Given the description of an element on the screen output the (x, y) to click on. 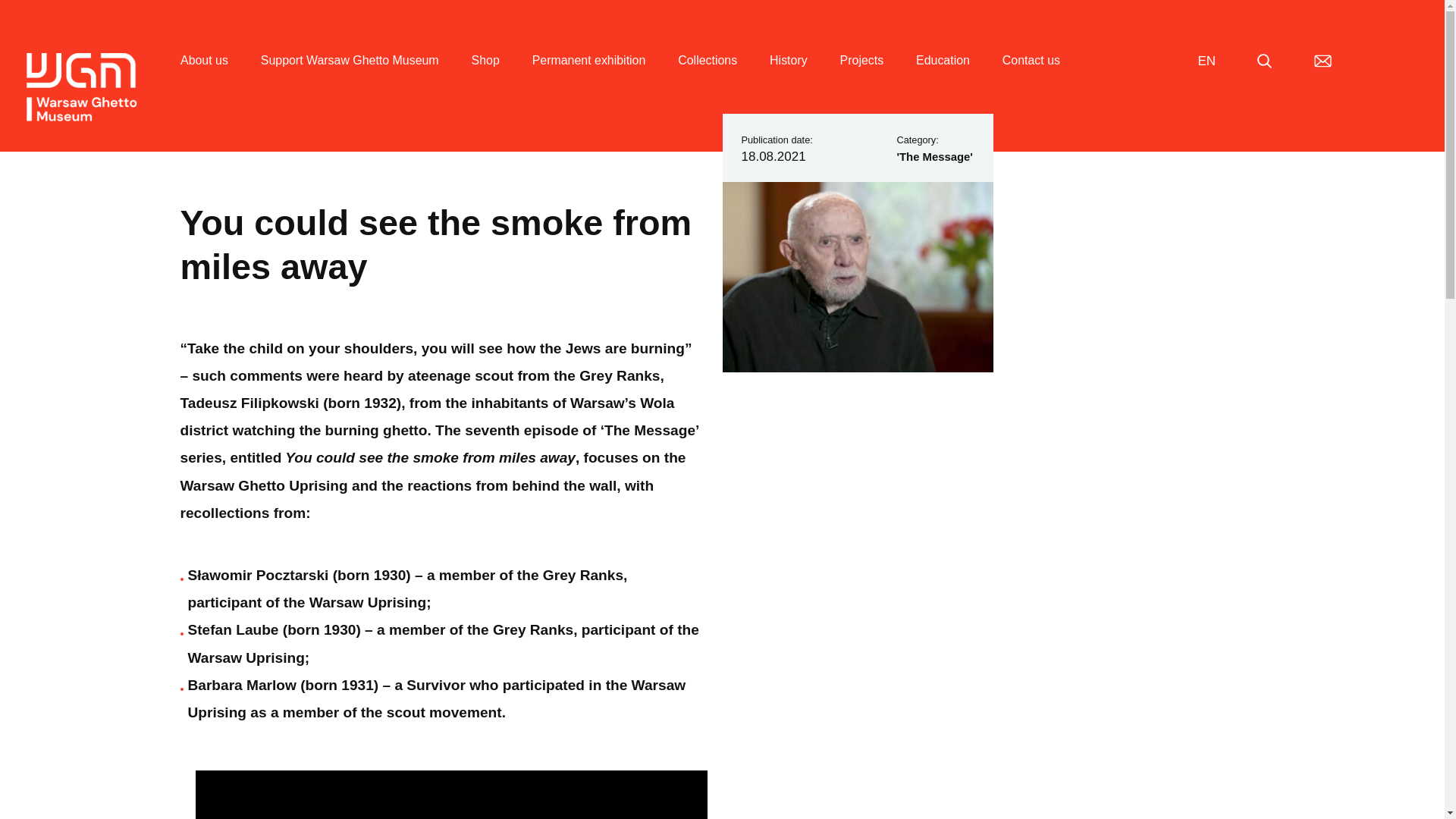
Collections (707, 78)
Education (942, 78)
Permanent exhibition (589, 78)
Support Warsaw Ghetto Museum (349, 78)
EN (1205, 60)
e-mail (1323, 60)
Contact us (1031, 78)
About us (204, 78)
